Given the description of an element on the screen output the (x, y) to click on. 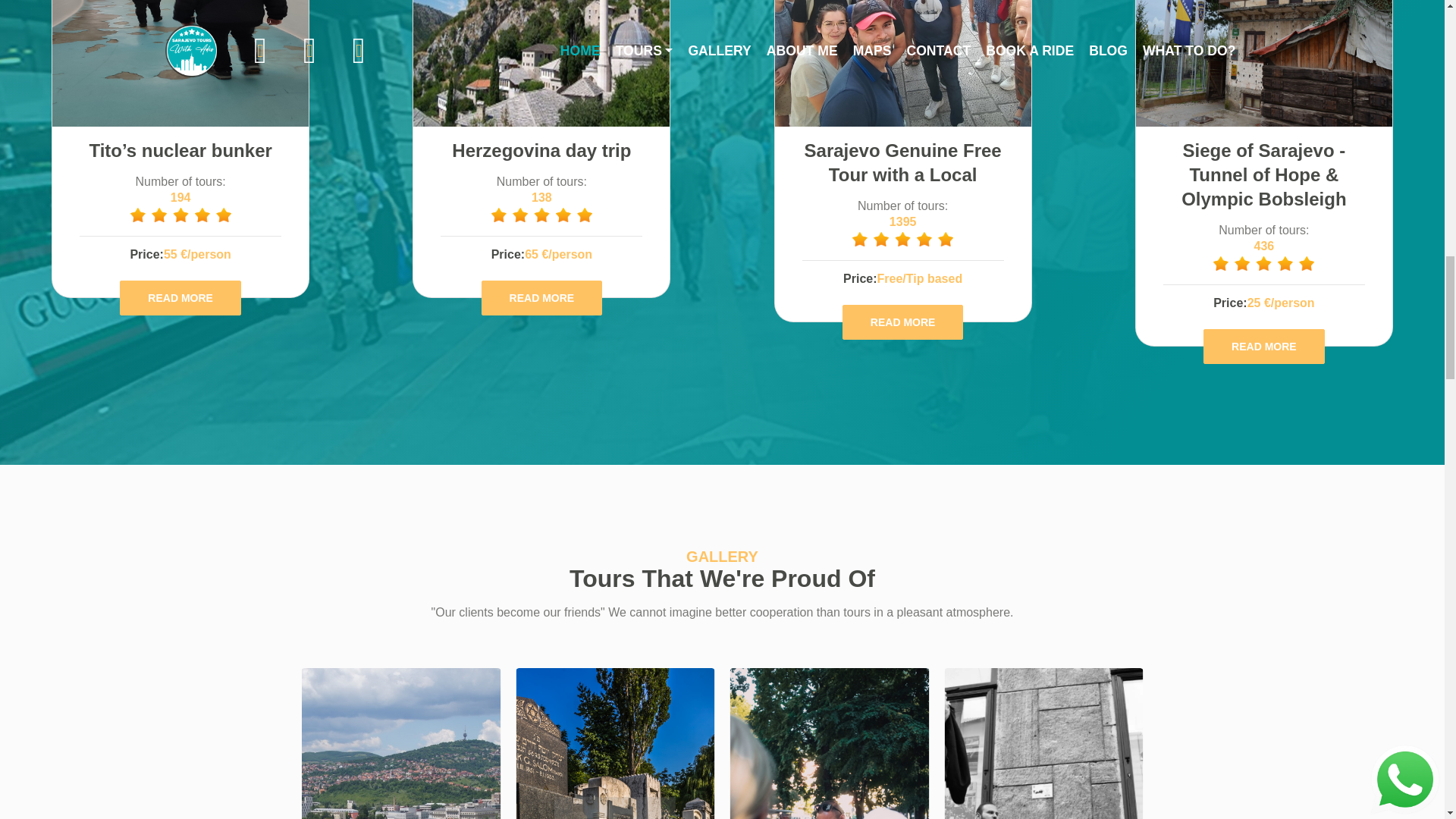
READ MORE (1264, 346)
READ MORE (541, 297)
READ MORE (903, 321)
READ MORE (1264, 346)
READ MORE (903, 321)
READ MORE (180, 297)
READ MORE (180, 297)
READ MORE (541, 297)
